Given the description of an element on the screen output the (x, y) to click on. 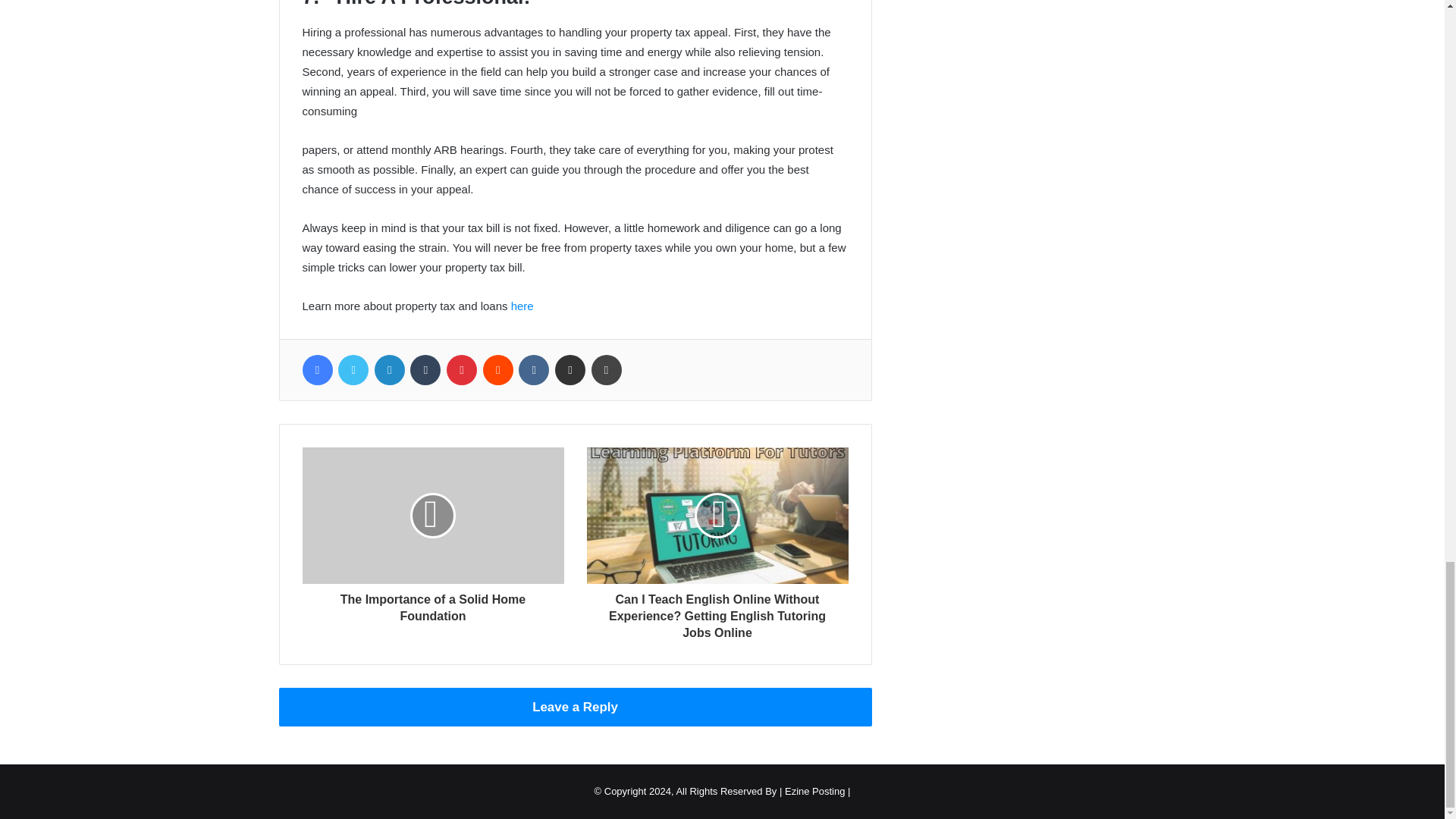
Tumblr (425, 369)
Pinterest (461, 369)
Pinterest (461, 369)
LinkedIn (389, 369)
Twitter (352, 369)
LinkedIn (389, 369)
here (522, 305)
VKontakte (533, 369)
Facebook (316, 369)
Twitter (352, 369)
